Given the description of an element on the screen output the (x, y) to click on. 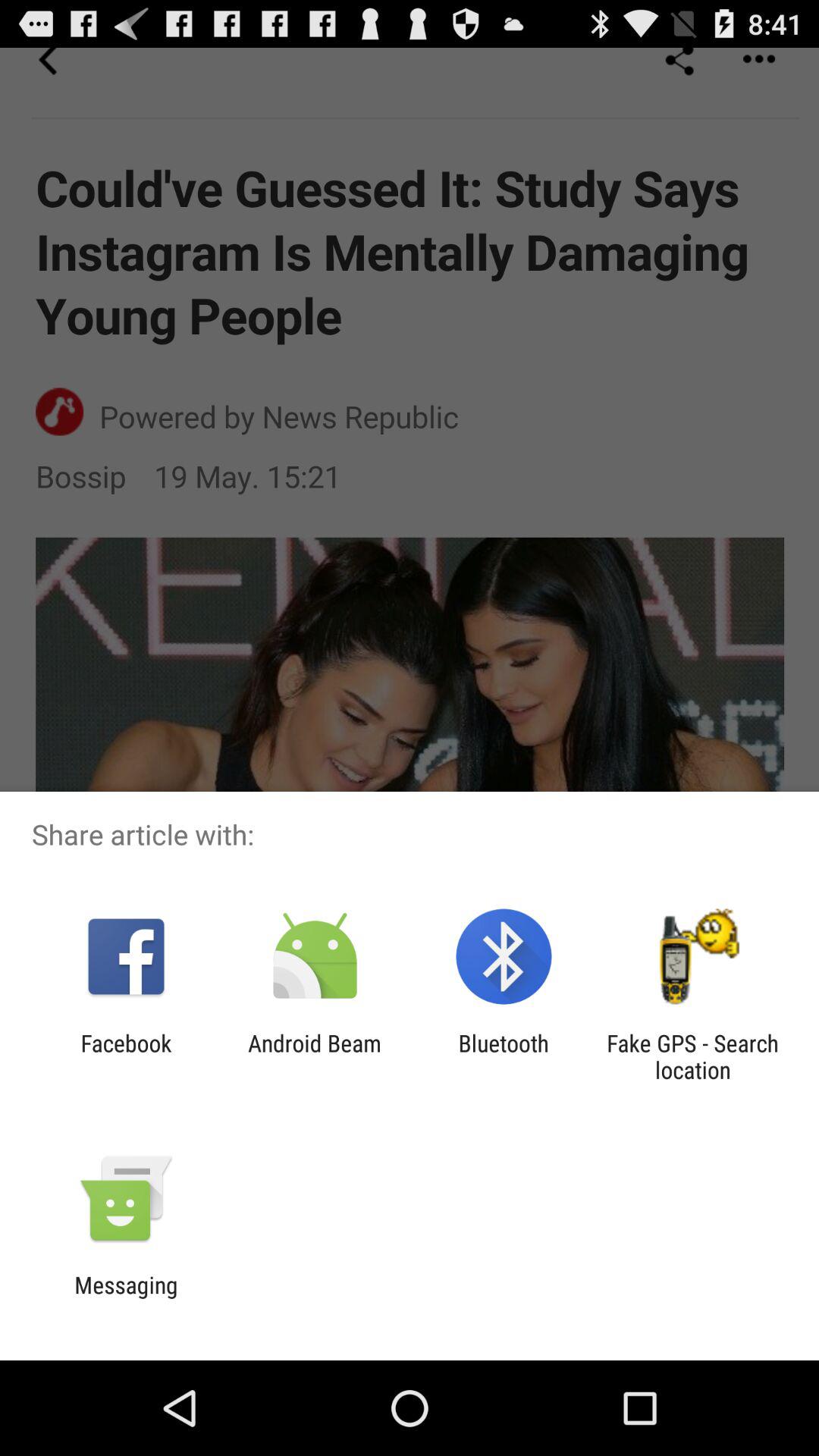
jump until bluetooth app (503, 1056)
